Given the description of an element on the screen output the (x, y) to click on. 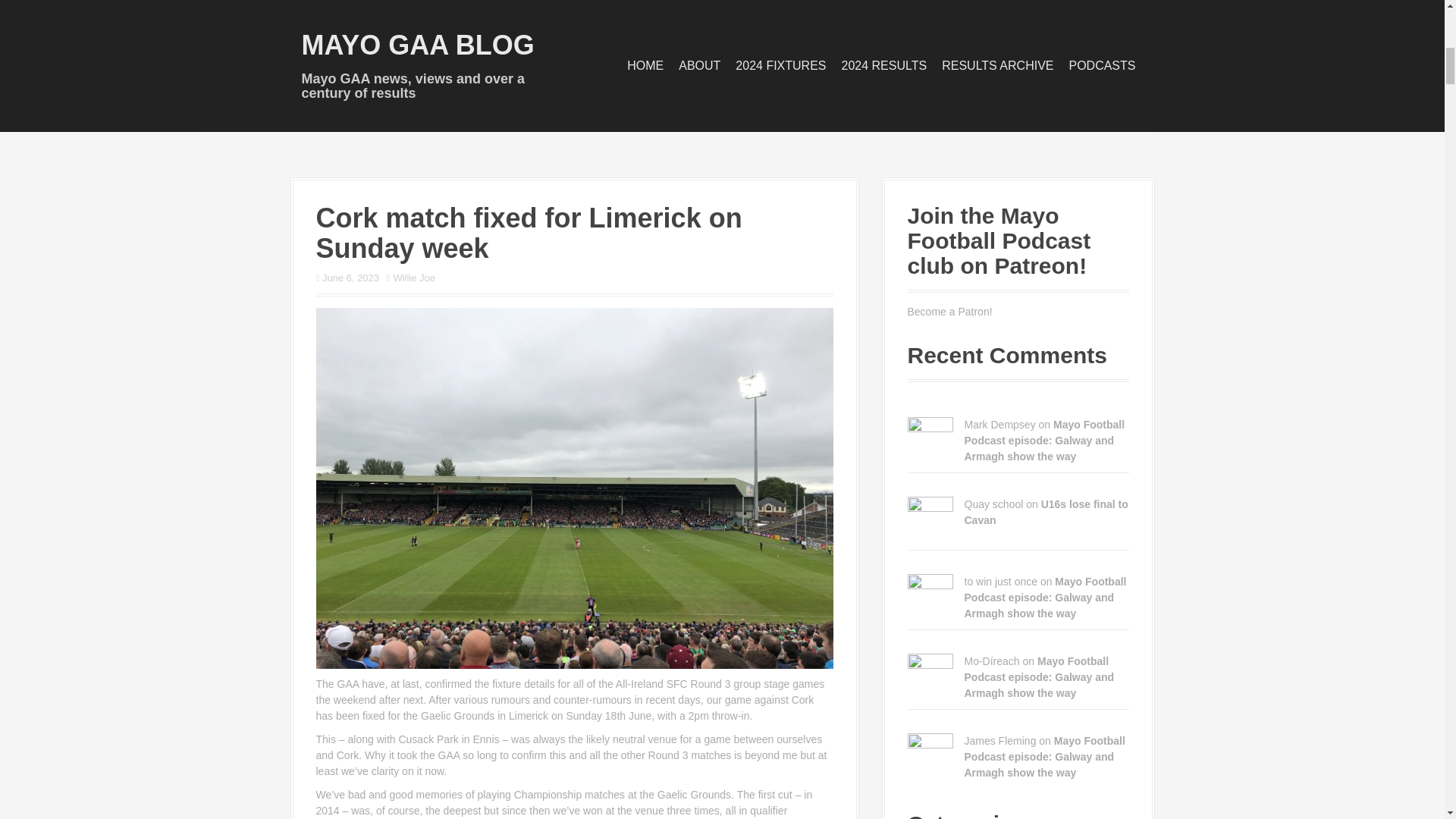
PODCASTS (1101, 65)
2024 FIXTURES (780, 65)
June 6, 2023 (349, 277)
Willie Joe (414, 277)
HOME (645, 65)
2024 RESULTS (884, 65)
MAYO GAA BLOG (417, 44)
RESULTS ARCHIVE (997, 65)
ABOUT (699, 65)
